Given the description of an element on the screen output the (x, y) to click on. 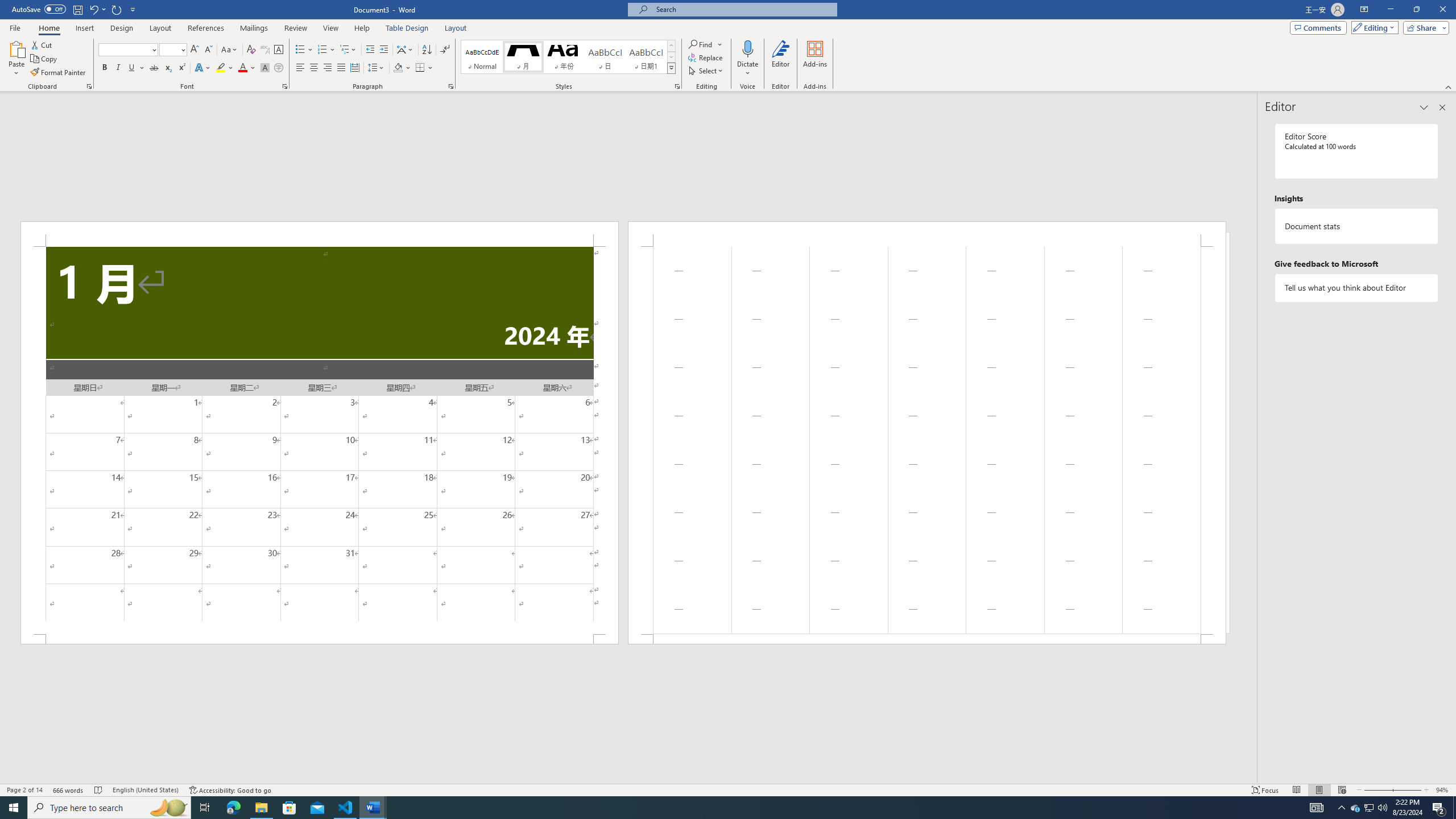
Word Count 666 words (68, 790)
